Given the description of an element on the screen output the (x, y) to click on. 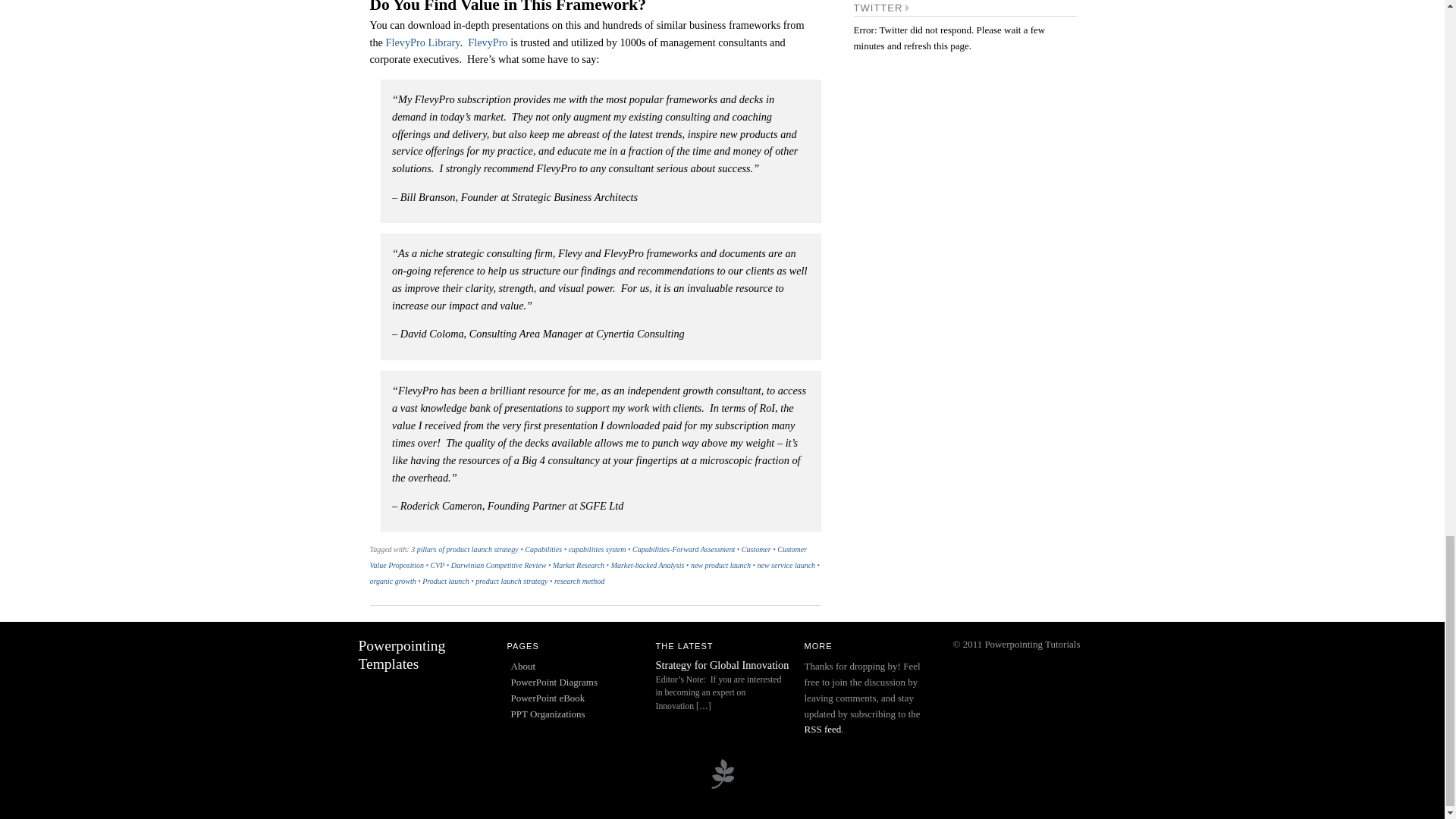
product launch strategy (511, 581)
CVP (437, 565)
Capabilities (543, 549)
new service launch (786, 565)
Capabilities-Forward Assessment (683, 549)
Customer (756, 549)
new product launch (720, 565)
research method (579, 581)
capabilities system (597, 549)
FlevyPro Library (422, 42)
Product launch (445, 581)
organic growth (392, 581)
Market-backed Analysis (647, 565)
Market Research (578, 565)
3 pillars of product launch strategy (464, 549)
